Given the description of an element on the screen output the (x, y) to click on. 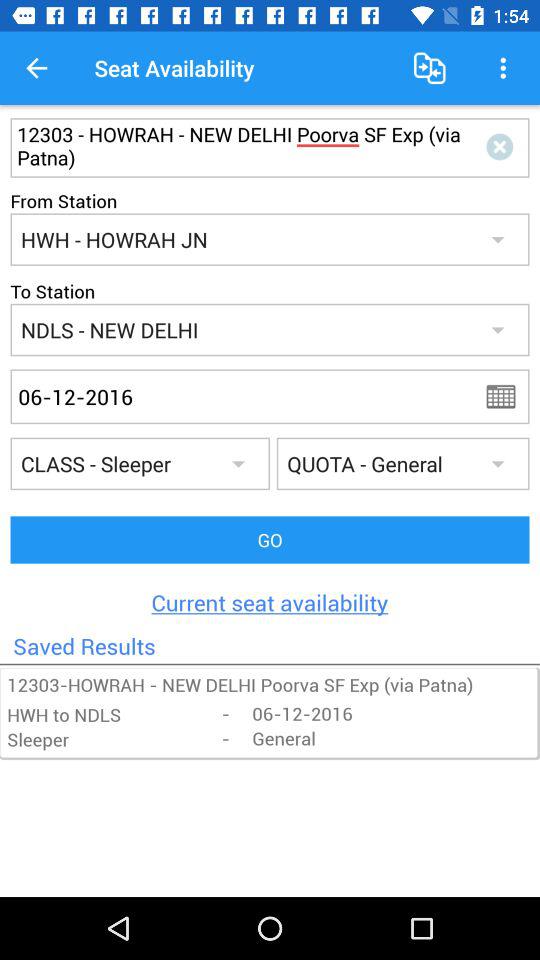
click calendar icon (507, 396)
